Given the description of an element on the screen output the (x, y) to click on. 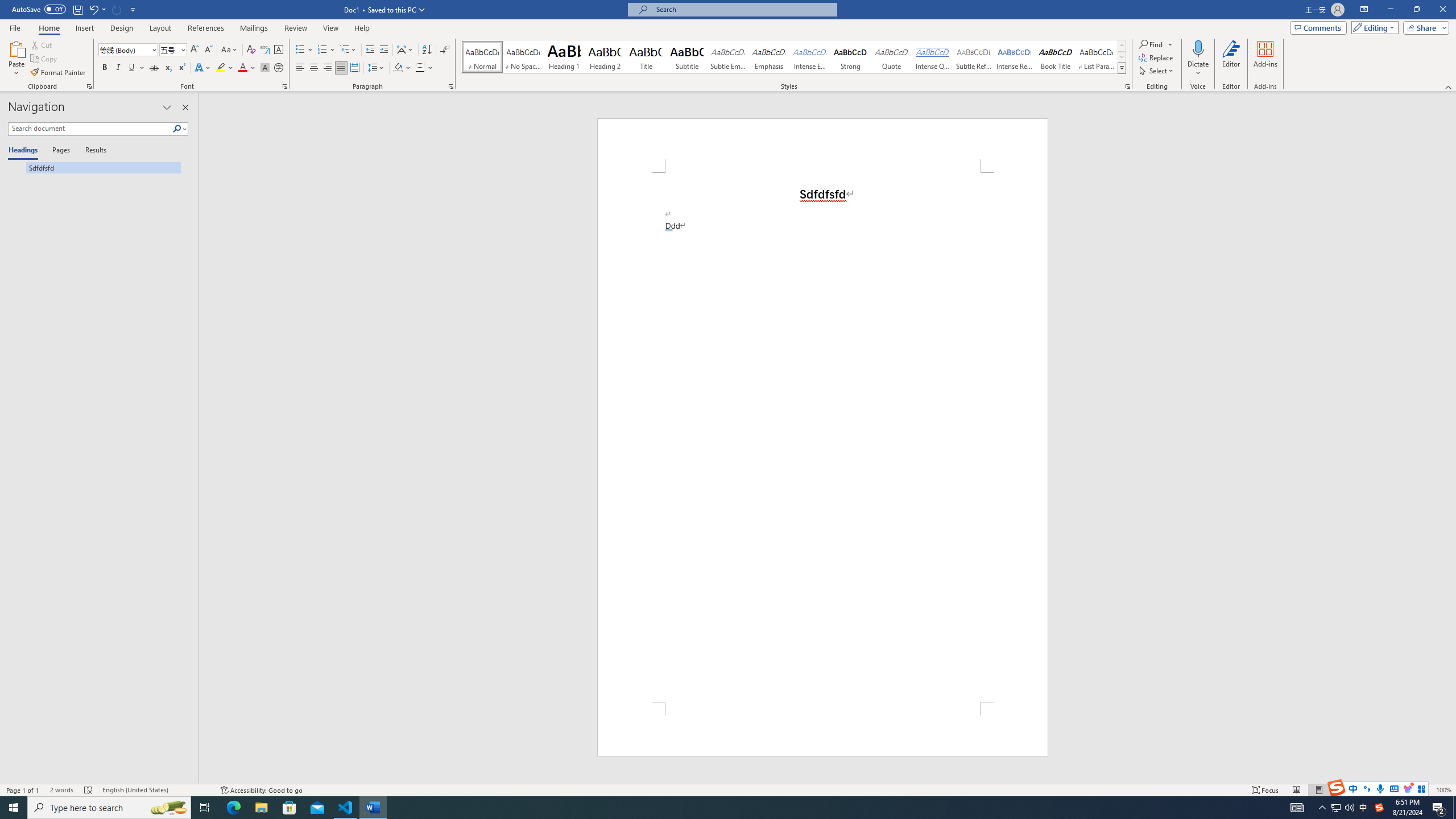
Show/Hide Editing Marks (444, 49)
Office Clipboard... (88, 85)
Paste (16, 58)
Strikethrough (154, 67)
Numbering (322, 49)
Comments (1318, 27)
Font... (285, 85)
Insert (83, 28)
Accessibility Checker Accessibility: Good to go (261, 790)
Results (91, 150)
Subtitle (686, 56)
Close (1442, 9)
Asian Layout (405, 49)
Mode (1372, 27)
Font (128, 49)
